Given the description of an element on the screen output the (x, y) to click on. 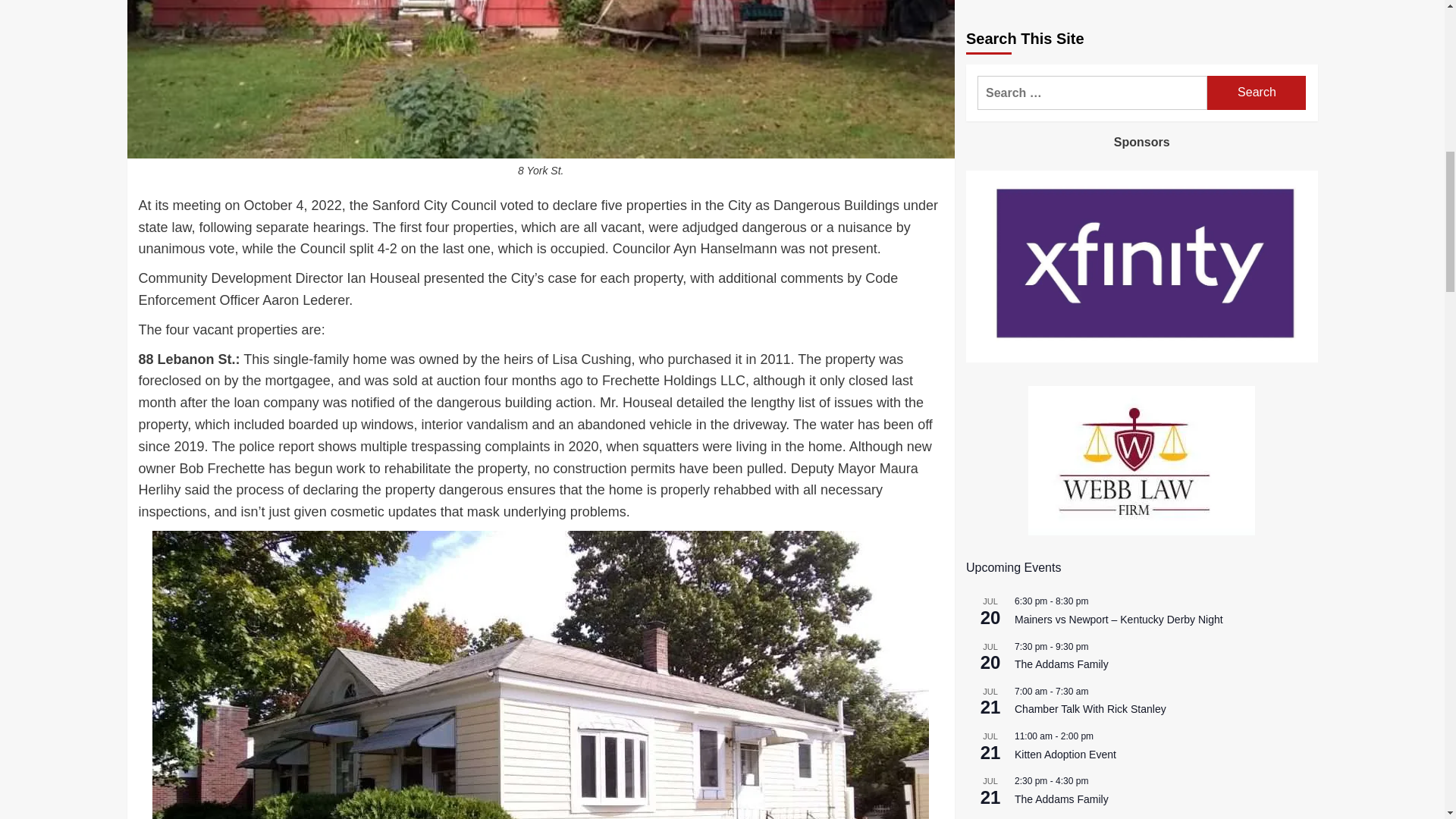
Chamber Talk With Rick Stanley (1090, 245)
The Addams Family (1061, 336)
The Addams Family (1061, 201)
View more events. (1000, 368)
Kitten Adoption Event (1065, 291)
